Given the description of an element on the screen output the (x, y) to click on. 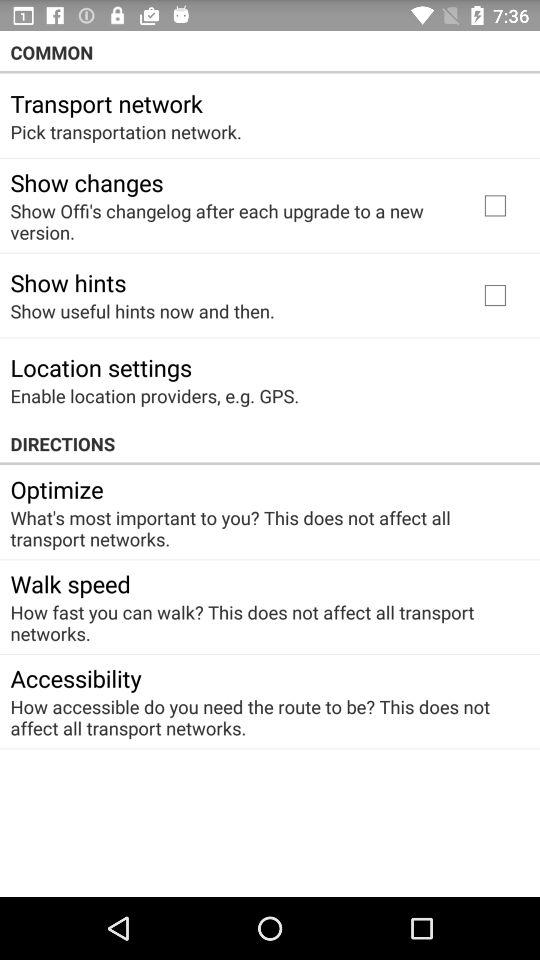
press icon below directions item (56, 489)
